Given the description of an element on the screen output the (x, y) to click on. 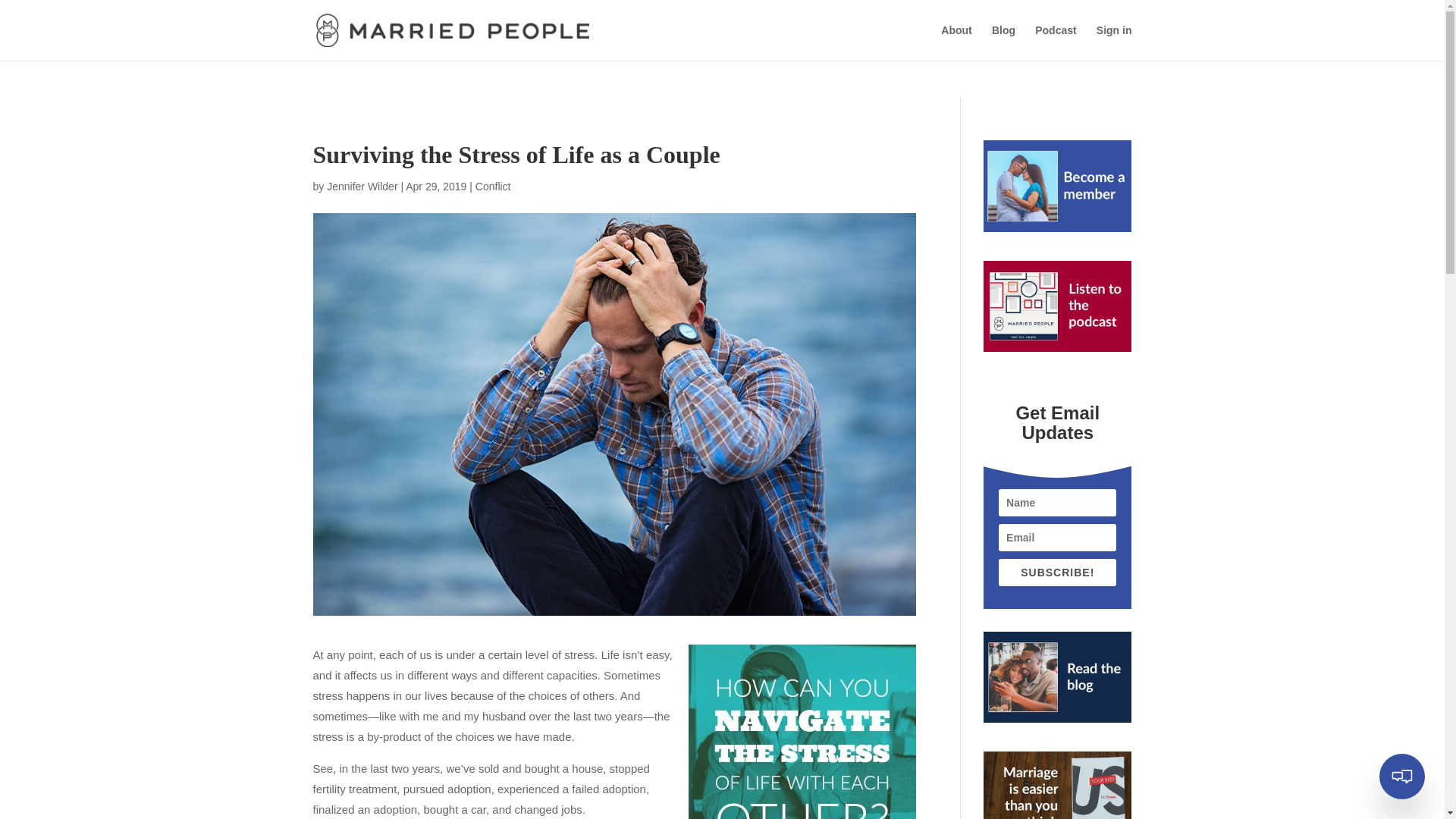
Podcast (1055, 42)
Sign in (1114, 42)
Jennifer Wilder (361, 186)
Posts by Jennifer Wilder (361, 186)
SUBSCRIBE! (1057, 572)
About (955, 42)
Conflict (493, 186)
Blog (1002, 42)
